Given the description of an element on the screen output the (x, y) to click on. 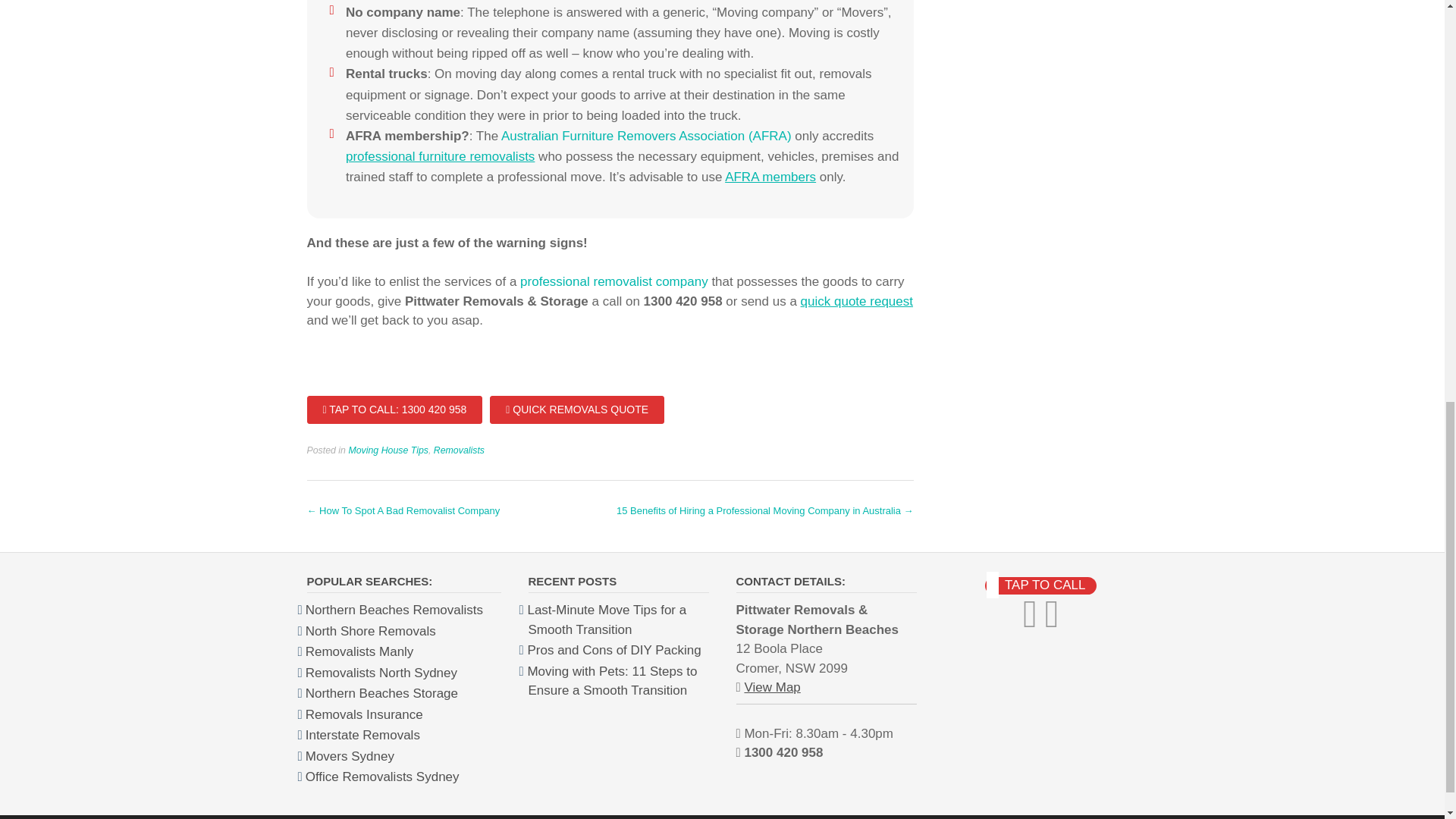
Northern Beaches Removals (394, 609)
Furniture movers Sydney (349, 756)
North Shore Removalists (370, 631)
